Given the description of an element on the screen output the (x, y) to click on. 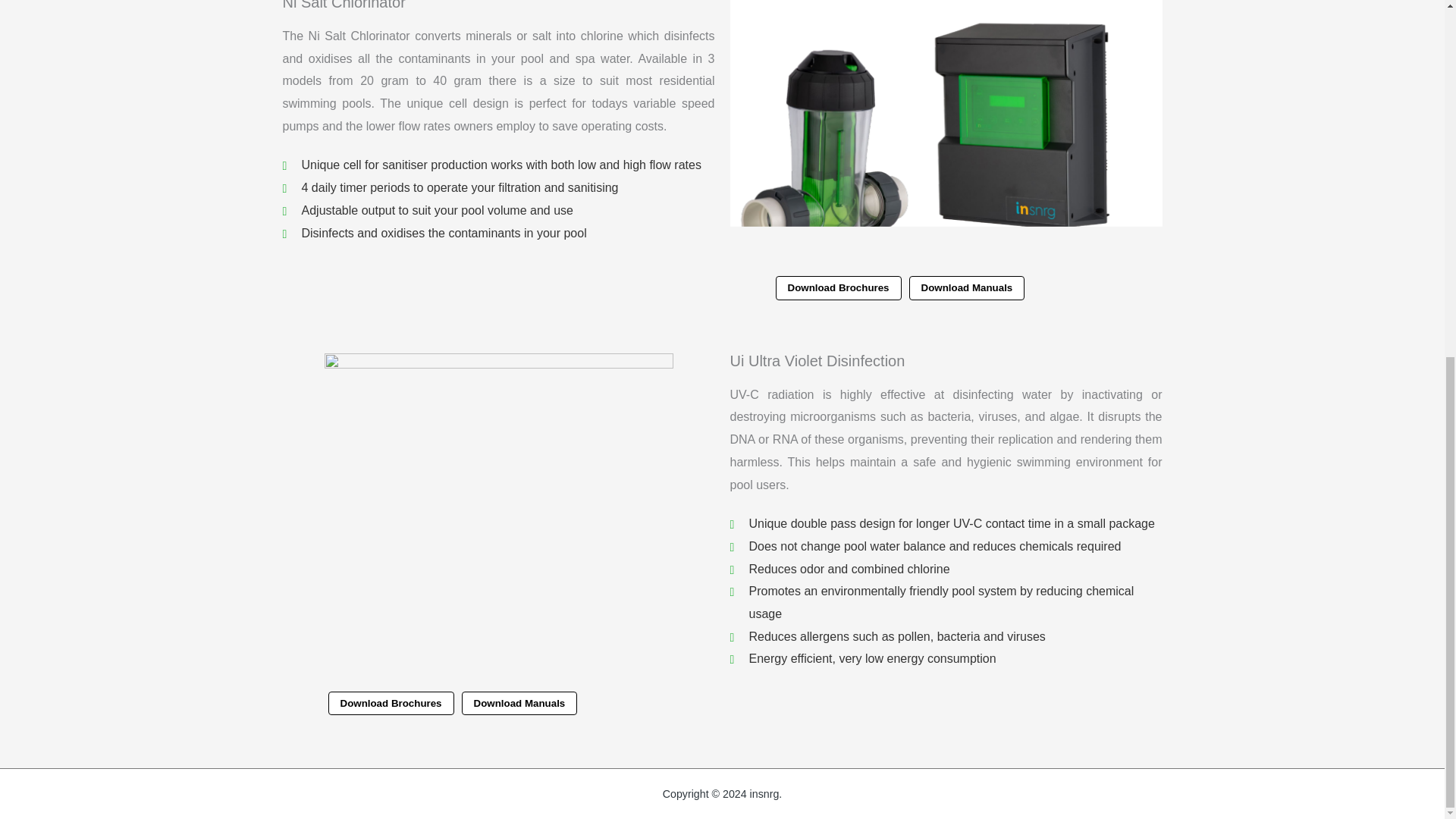
Download Brochures (389, 702)
Download Manuals (966, 287)
Download Manuals (519, 702)
Download Brochures (837, 287)
